Given the description of an element on the screen output the (x, y) to click on. 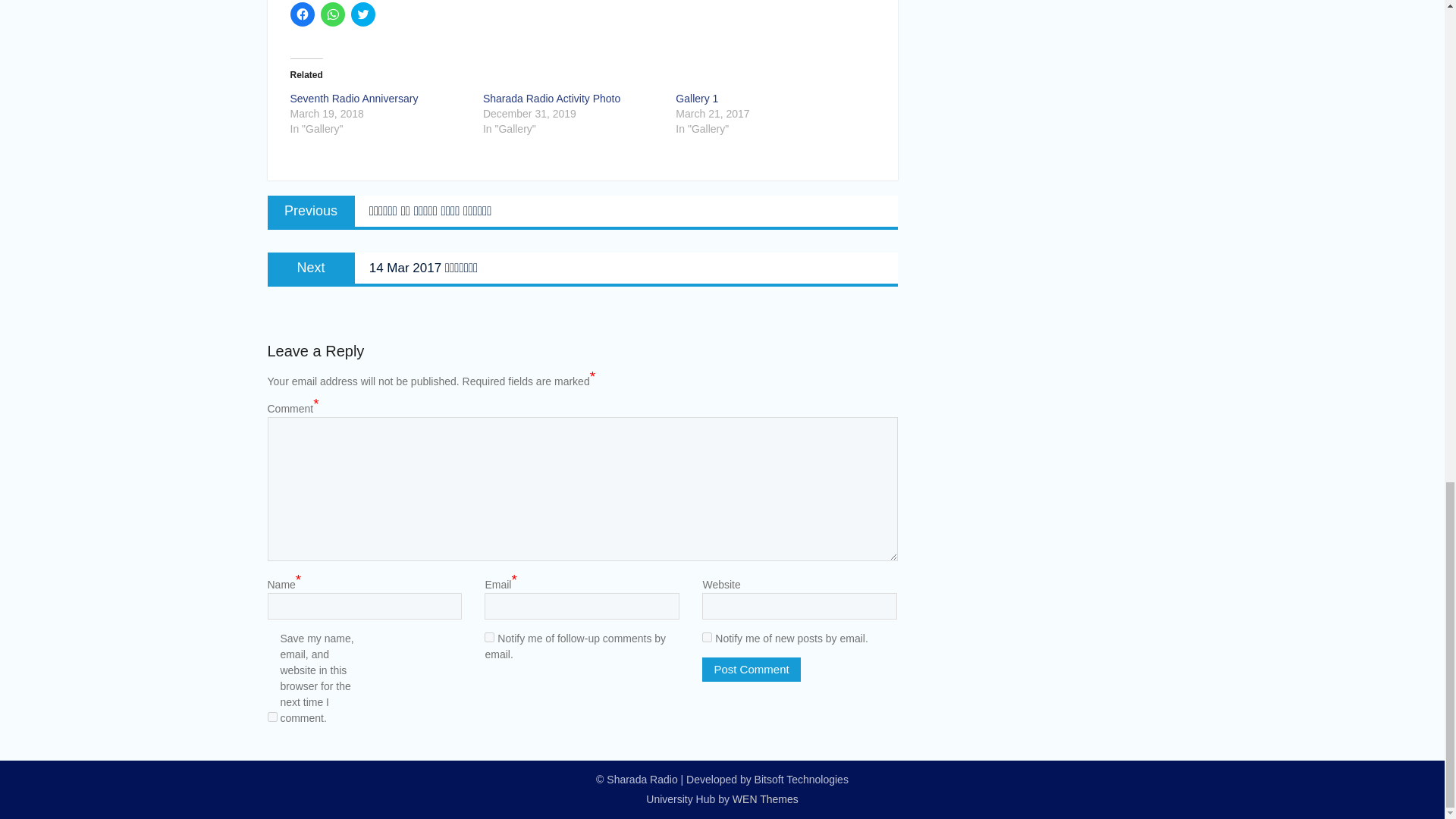
Click to share on Facebook (301, 14)
yes (271, 716)
Click to share on WhatsApp (331, 14)
subscribe (706, 637)
Gallery 1 (696, 98)
Post Comment (750, 669)
Click to share on Twitter (362, 14)
Seventh Radio Anniversary (353, 98)
subscribe (489, 637)
Sharada Radio Activity Photo (551, 98)
